Given the description of an element on the screen output the (x, y) to click on. 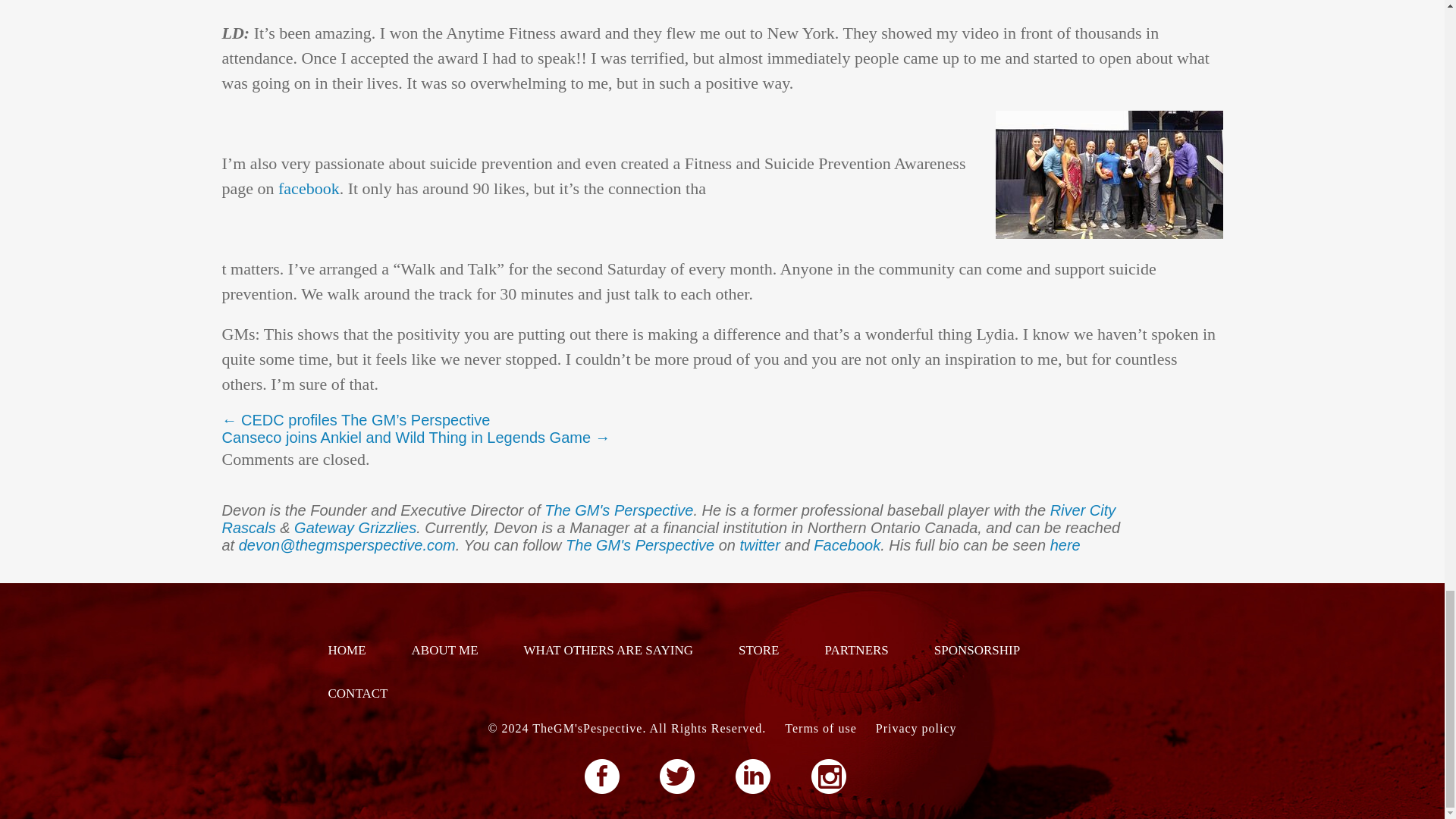
CONTACT (357, 692)
witter  (764, 545)
t (741, 545)
PARTNERS (856, 649)
Gateway Grizzlies (355, 527)
HOME (346, 649)
The GM's Perspective (640, 545)
acebook (852, 545)
 facebook (307, 188)
here (1064, 545)
WHAT OTHERS ARE SAYING (608, 649)
River City Rascals (668, 519)
Privacy policy (916, 727)
F (817, 545)
STORE (759, 649)
